Given the description of an element on the screen output the (x, y) to click on. 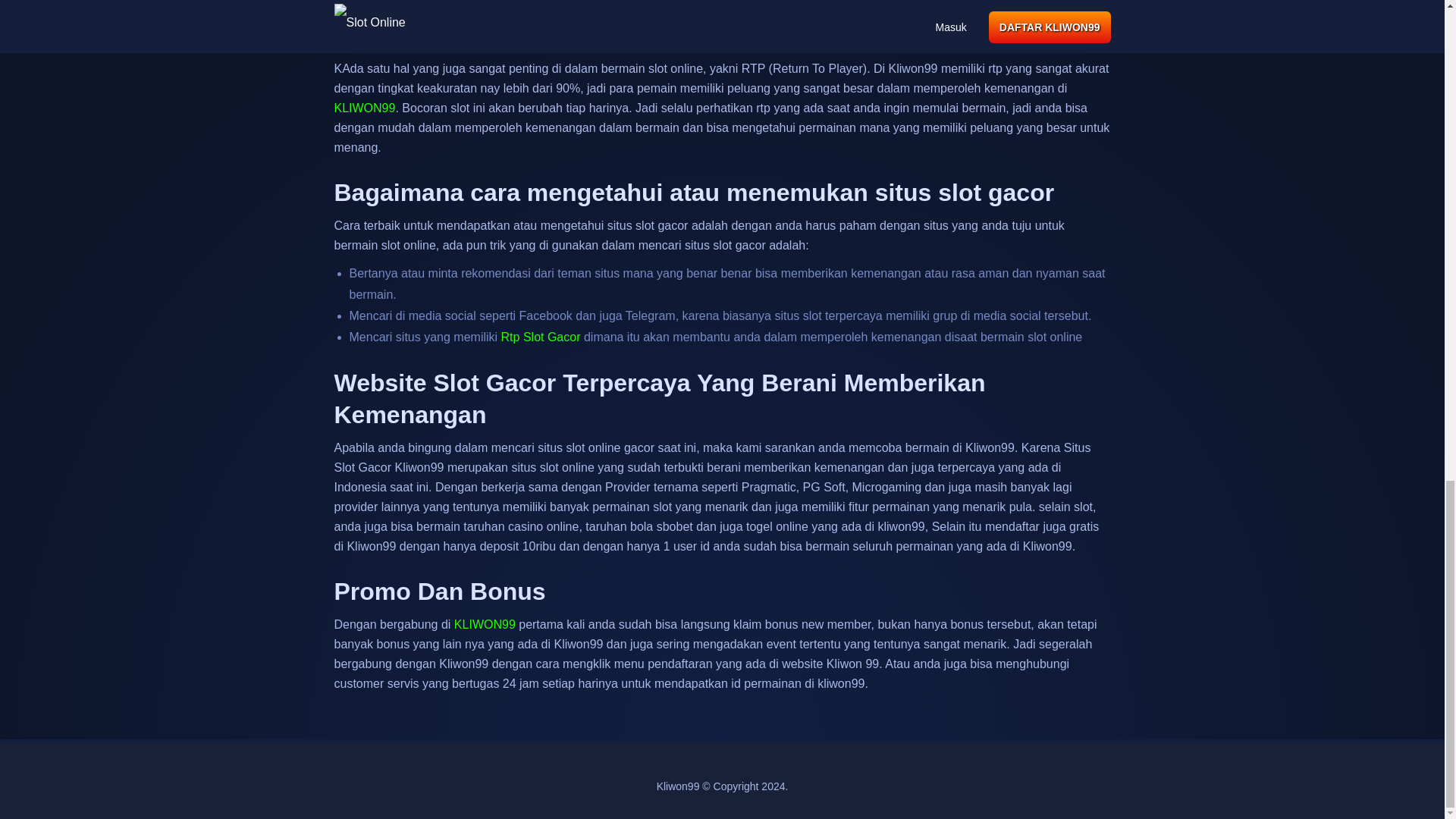
KLIWON99 (484, 624)
Rtp Slot Gacor (540, 336)
KLIWON99 (363, 107)
KLIWON99 (363, 107)
KLIWON99 (484, 624)
KLIWON99 (540, 336)
